Given the description of an element on the screen output the (x, y) to click on. 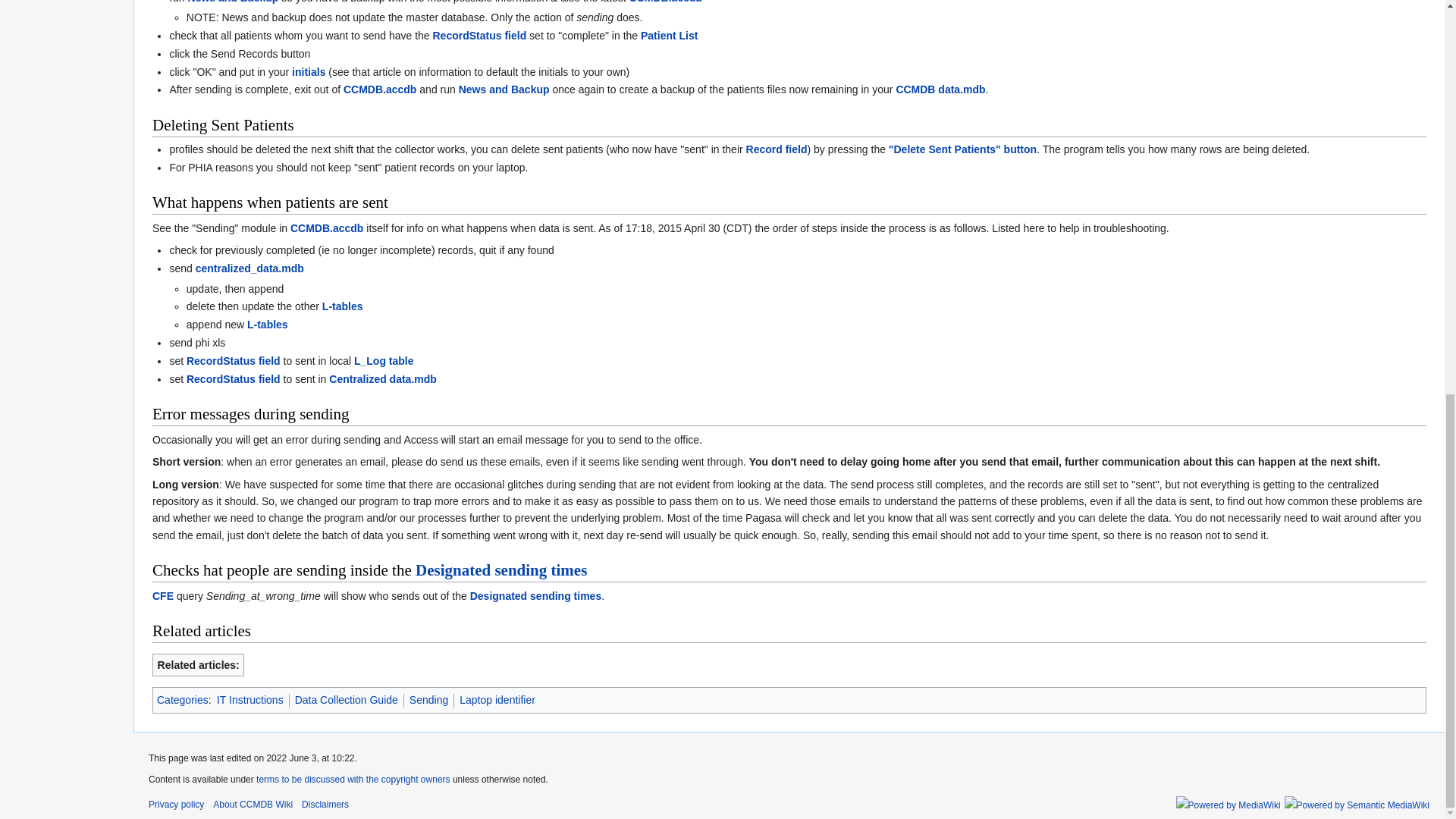
CCMDB data.mdb (940, 89)
CCMDB.accdb (325, 227)
L-tables (267, 324)
RecordStatus field (233, 360)
CCMDB.accdb (664, 2)
Record field (776, 149)
News and Backup (233, 2)
Patient List (668, 35)
"Delete Sent Patients" button (962, 149)
News and Backup (233, 2)
